Given the description of an element on the screen output the (x, y) to click on. 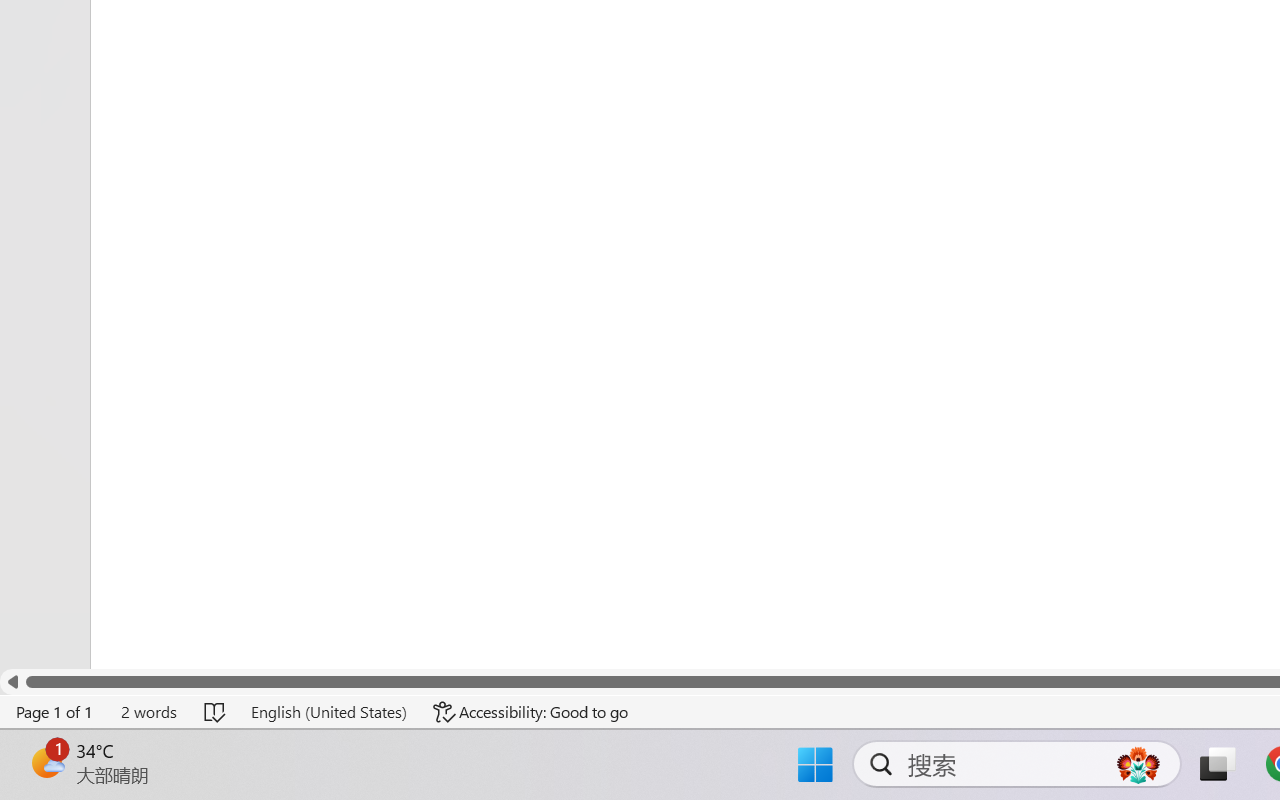
Page Number Page 1 of 1 (55, 712)
AutomationID: DynamicSearchBoxGleamImage (1138, 764)
Language English (United States) (328, 712)
Accessibility Checker Accessibility: Good to go (531, 712)
Spelling and Grammar Check No Errors (216, 712)
AutomationID: BadgeAnchorLargeTicker (46, 762)
